Given the description of an element on the screen output the (x, y) to click on. 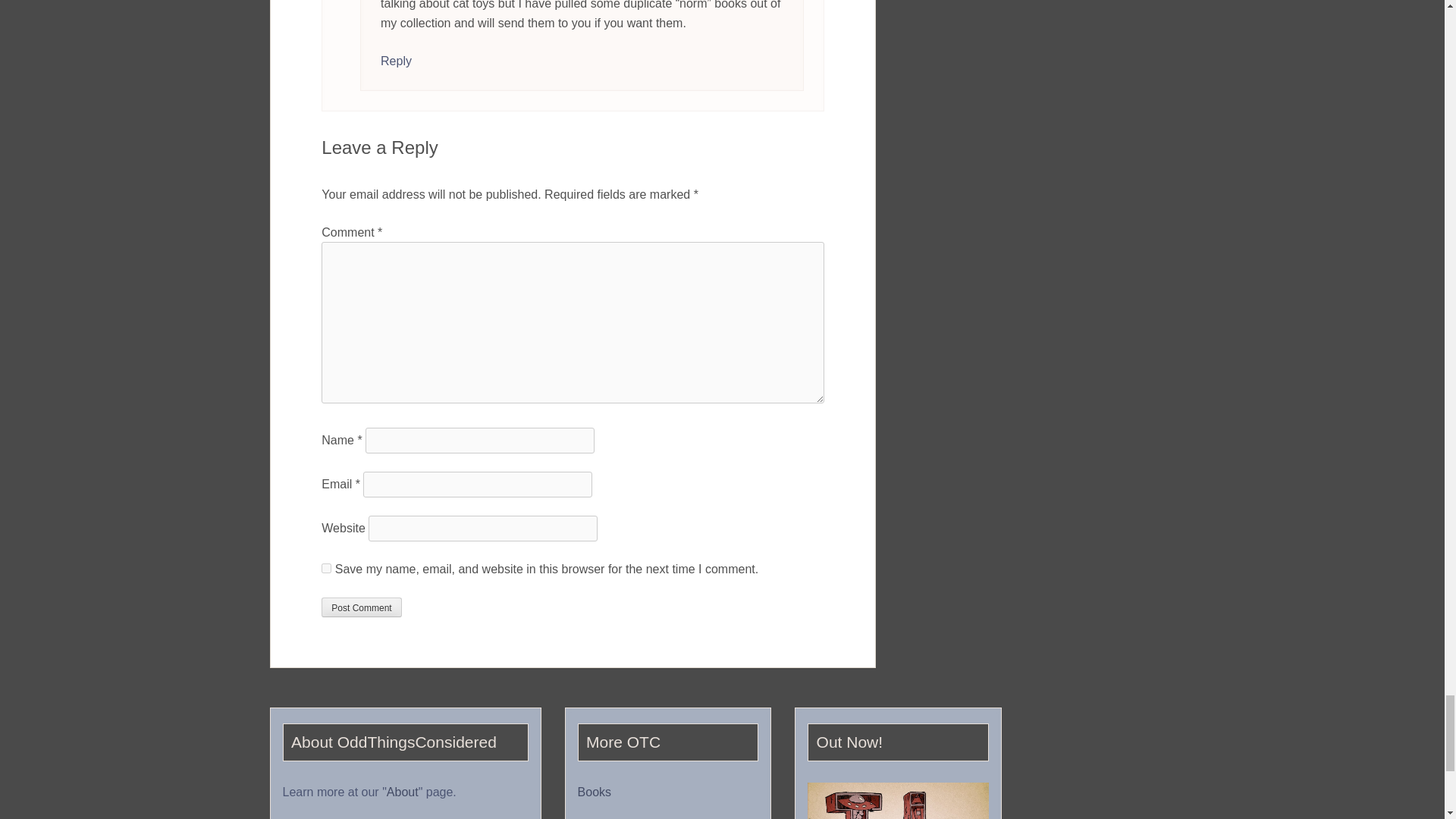
Post Comment (361, 607)
yes (326, 568)
Post Comment (361, 607)
Reply (396, 60)
